Given the description of an element on the screen output the (x, y) to click on. 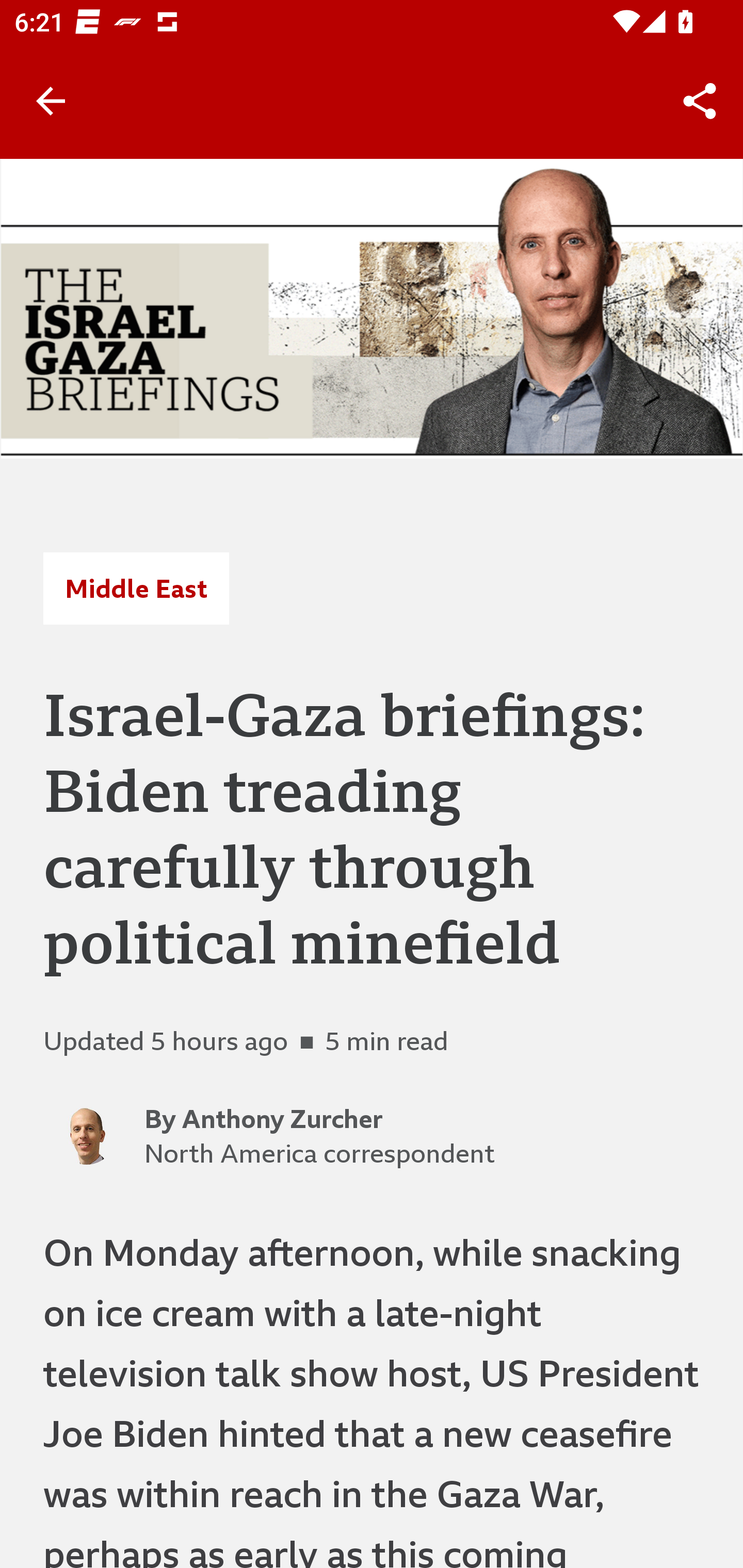
Back (50, 101)
Share (699, 101)
The Israel Gaza Briefings: Anthony Zurcher (371, 307)
Middle East (135, 588)
